Given the description of an element on the screen output the (x, y) to click on. 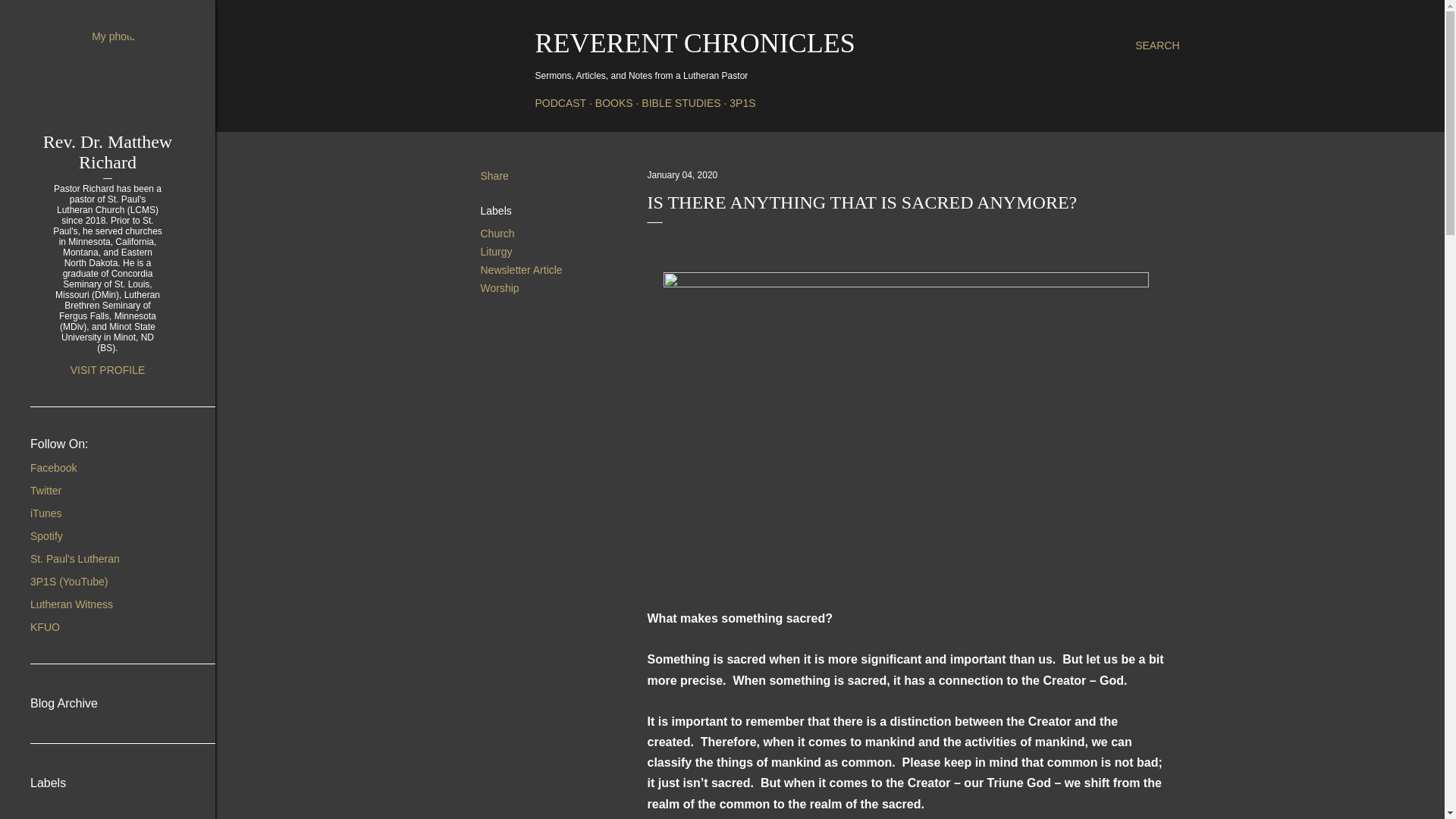
BIBLE STUDIES (681, 102)
VISIT PROFILE (107, 369)
Lutheran Witness (71, 604)
Liturgy (496, 251)
St. Paul's Lutheran (74, 558)
PODCAST (560, 102)
BOOKS (614, 102)
SEARCH (1157, 45)
Worship (499, 287)
January 04, 2020 (682, 174)
REVERENT CHRONICLES (695, 42)
Facebook (53, 467)
Rev. Dr. Matthew Richard (107, 151)
Spotify (46, 535)
Share (494, 175)
